Given the description of an element on the screen output the (x, y) to click on. 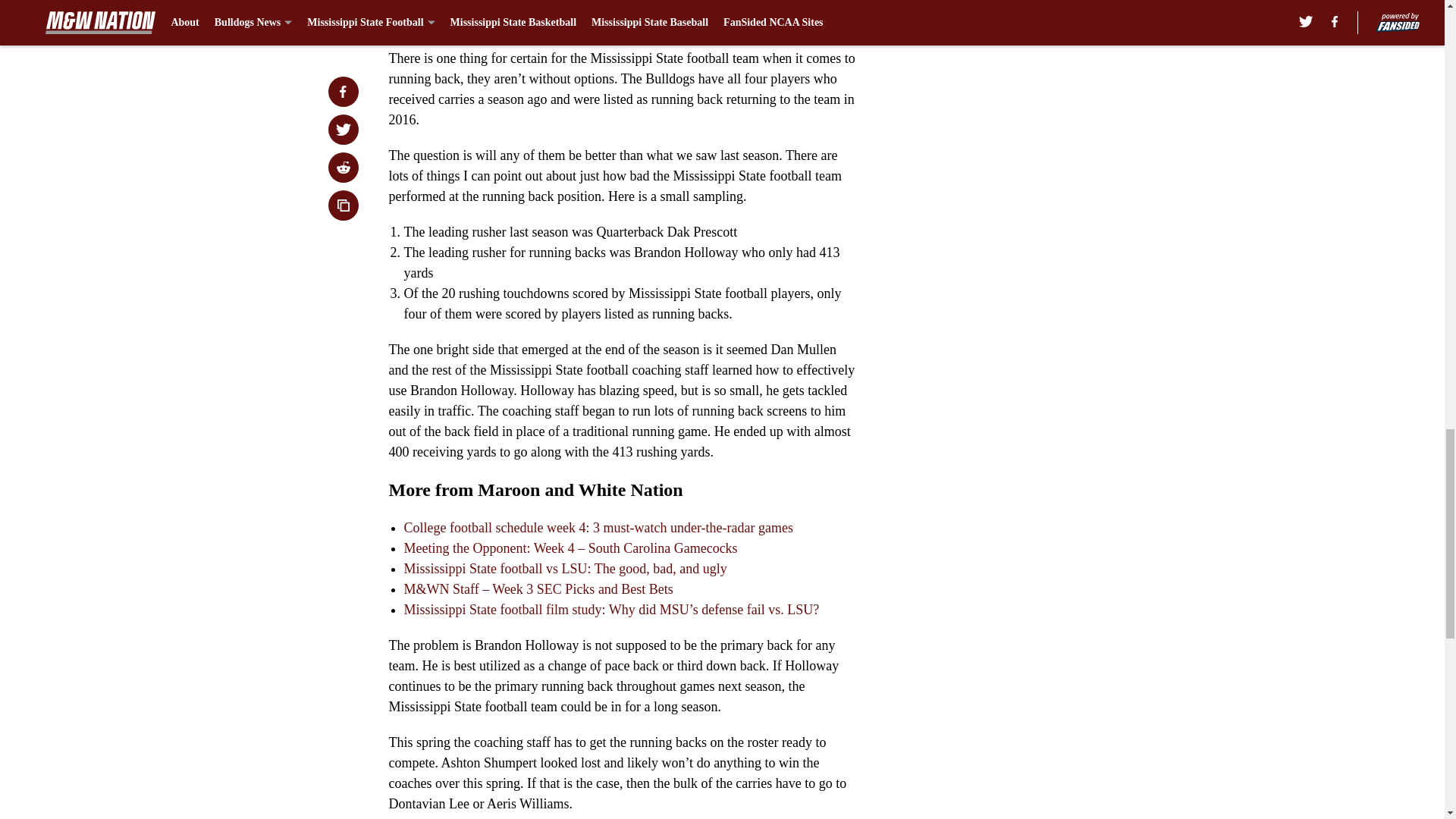
Mississippi State football vs LSU: The good, bad, and ugly (564, 568)
